Given the description of an element on the screen output the (x, y) to click on. 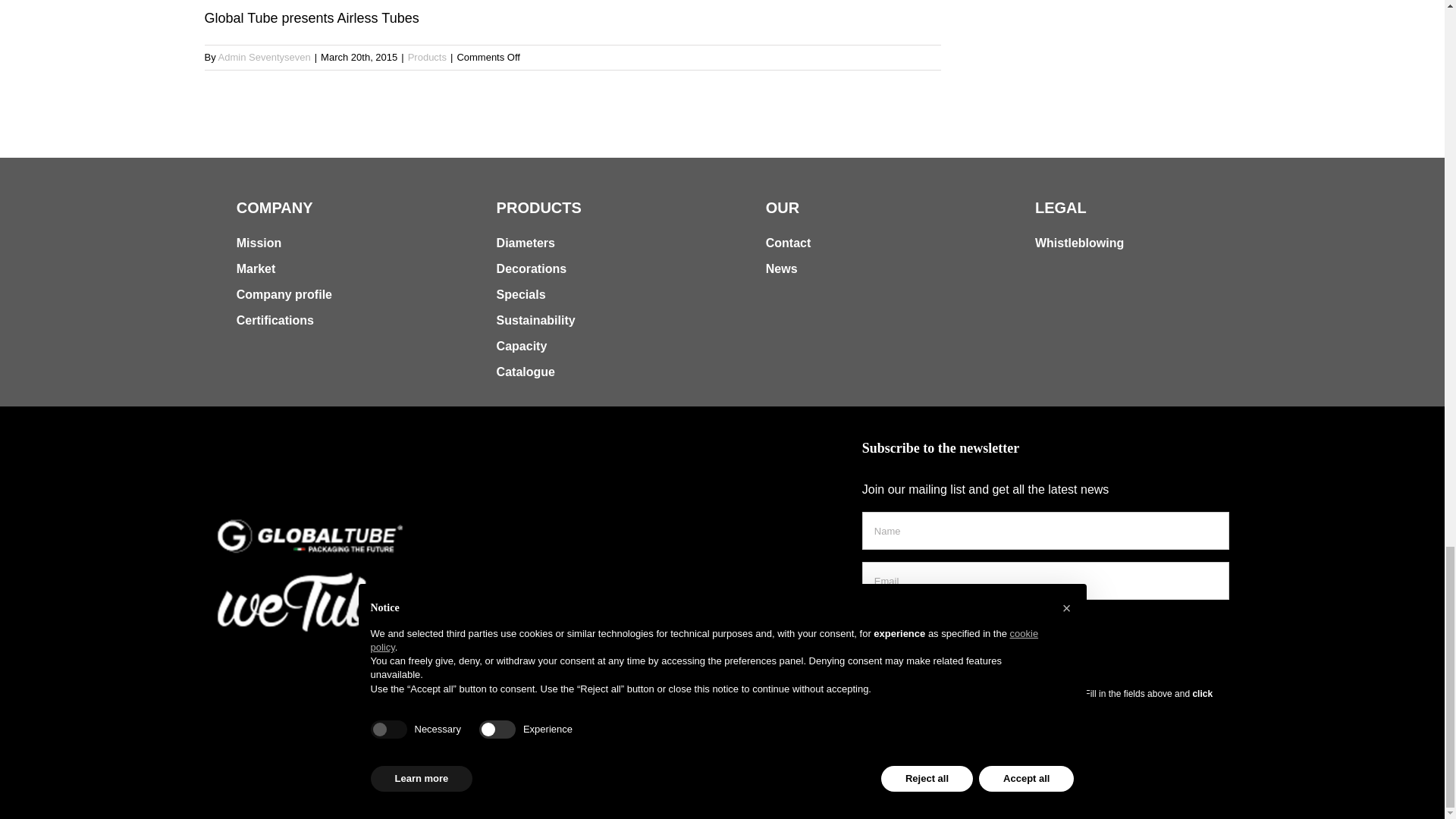
Send (900, 656)
Global Tube presents Airless Tubes (573, 14)
Posts by Admin Seventyseven (264, 57)
1 (869, 620)
